Given the description of an element on the screen output the (x, y) to click on. 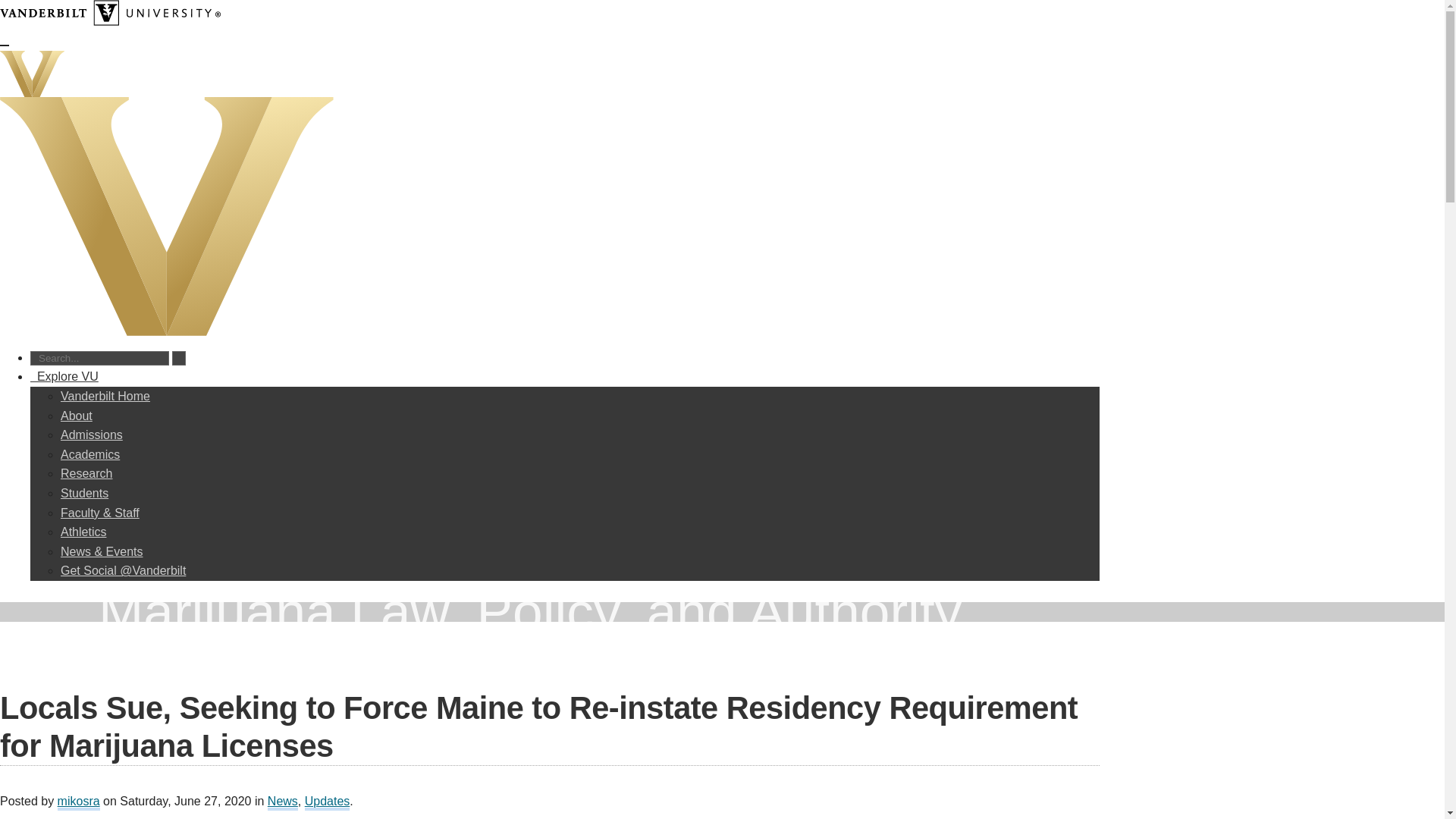
Athletics (83, 531)
Marijuana Law, Policy, and Authority (549, 611)
mikosra (79, 802)
Posts by mikosra (79, 802)
Academics (90, 454)
Students (84, 492)
Vanderbilt Home (105, 395)
Updates (327, 802)
About (77, 415)
Admissions (91, 434)
Research (86, 472)
News (282, 802)
  Explore VU (64, 376)
